Given the description of an element on the screen output the (x, y) to click on. 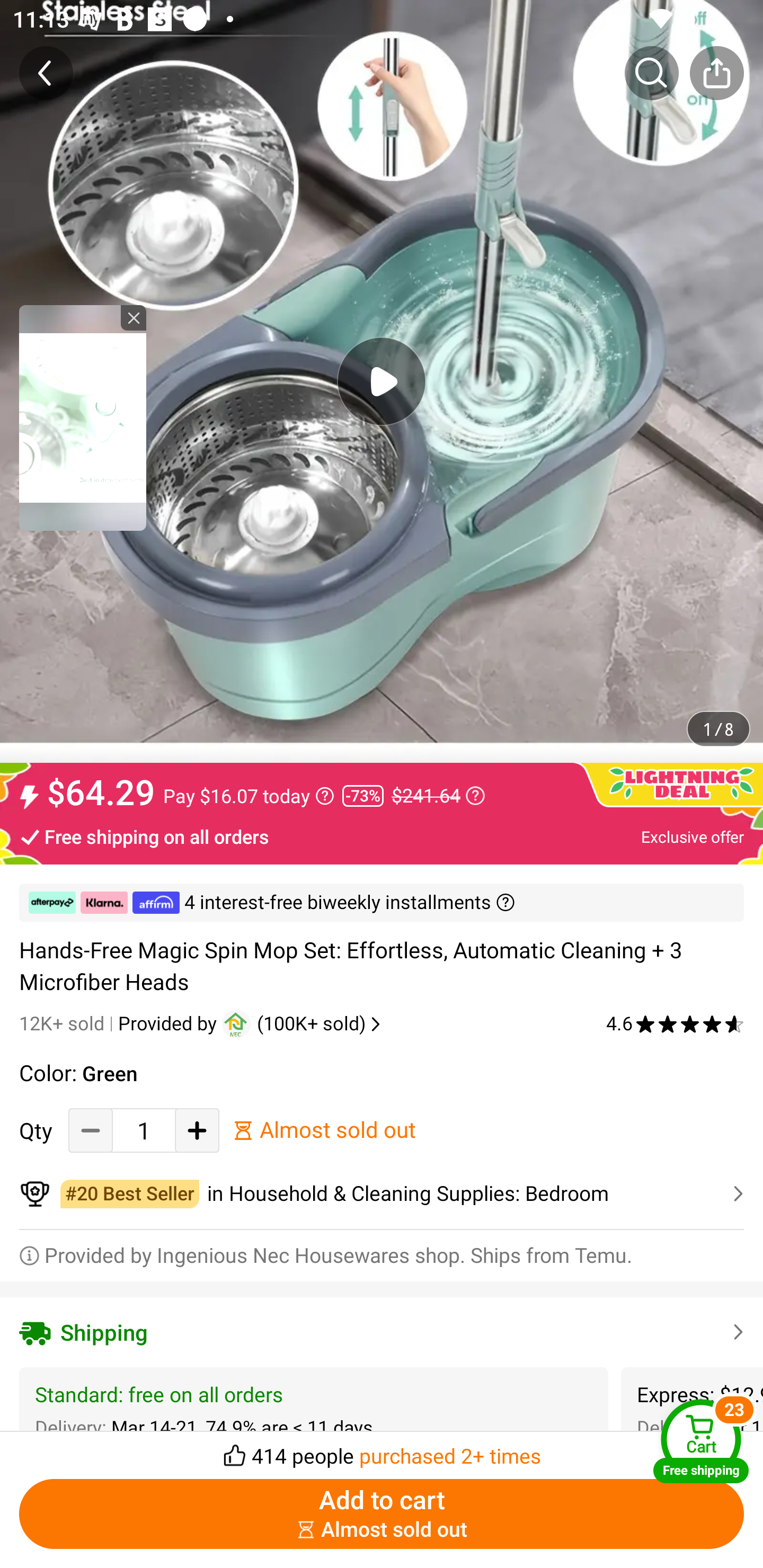
Back (46, 72)
Share (716, 72)
tronplayer_view (82, 417)
Pay $16.07 today   (248, 795)
Free shipping on all orders Exclusive offer (381, 836)
￼ ￼ ￼ 4 interest-free biweekly installments ￼ (381, 902)
4.6 (674, 1023)
Decrease Quantity Button (90, 1130)
1 (143, 1130)
Add Quantity button (196, 1130)
￼￼in Household & Cleaning Supplies: Bedroom (381, 1193)
Shipping (381, 1331)
Cart Free shipping Cart (701, 1440)
￼￼414 people purchased 2+ times (381, 1450)
Add to cart ￼￼Almost sold out (381, 1513)
